Given the description of an element on the screen output the (x, y) to click on. 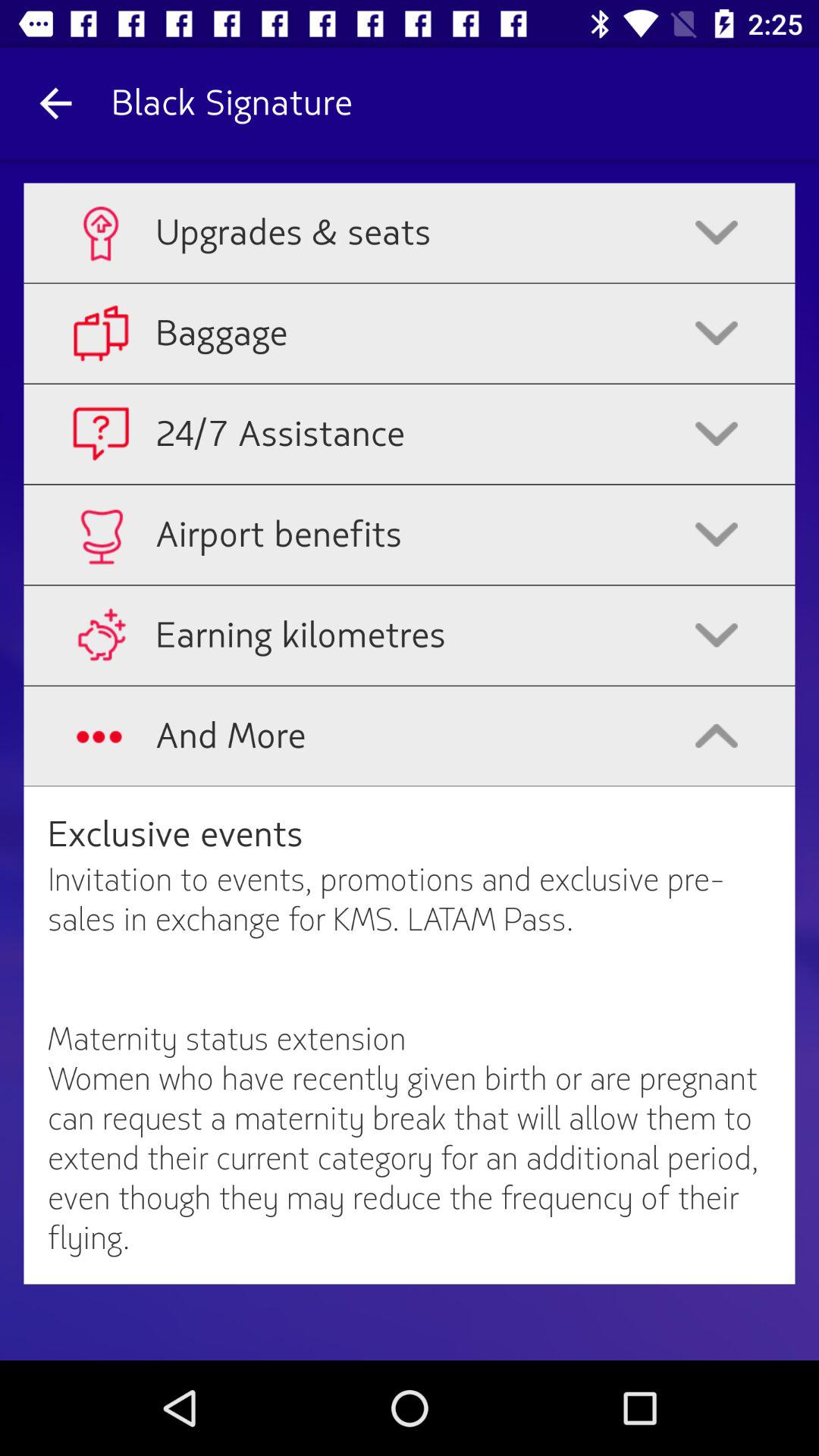
turn on the item next to the black signature icon (55, 103)
